Given the description of an element on the screen output the (x, y) to click on. 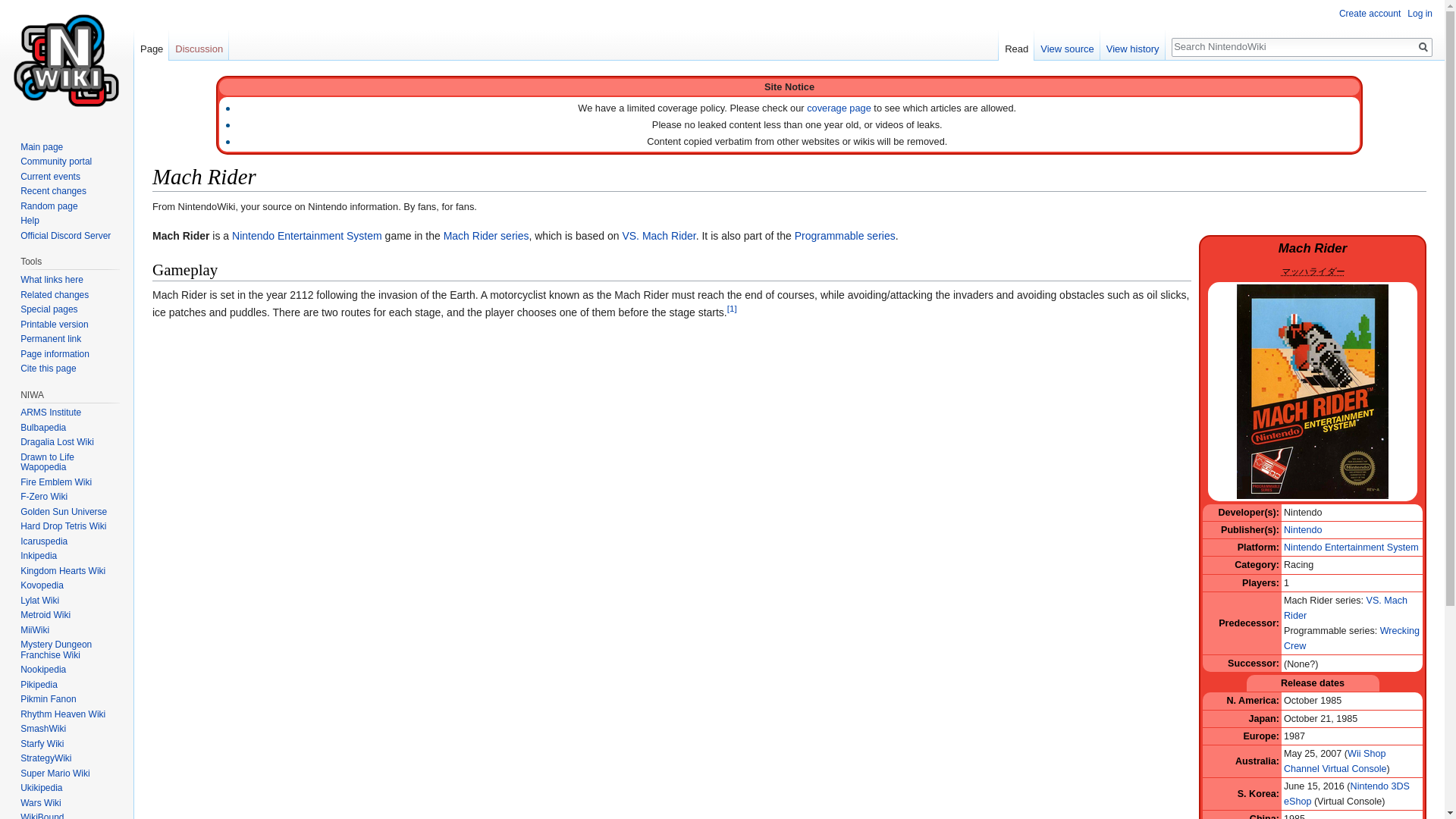
VS. Mach Rider (658, 235)
Nintendo Entertainment System (1351, 547)
NintendoWiki:Coverage (838, 107)
Create account (1369, 13)
Wii Shop Channel (1335, 760)
Wrecking Crew (1351, 638)
Read (1015, 45)
Go (1423, 46)
Log in (1419, 13)
eShop (1297, 801)
